Given the description of an element on the screen output the (x, y) to click on. 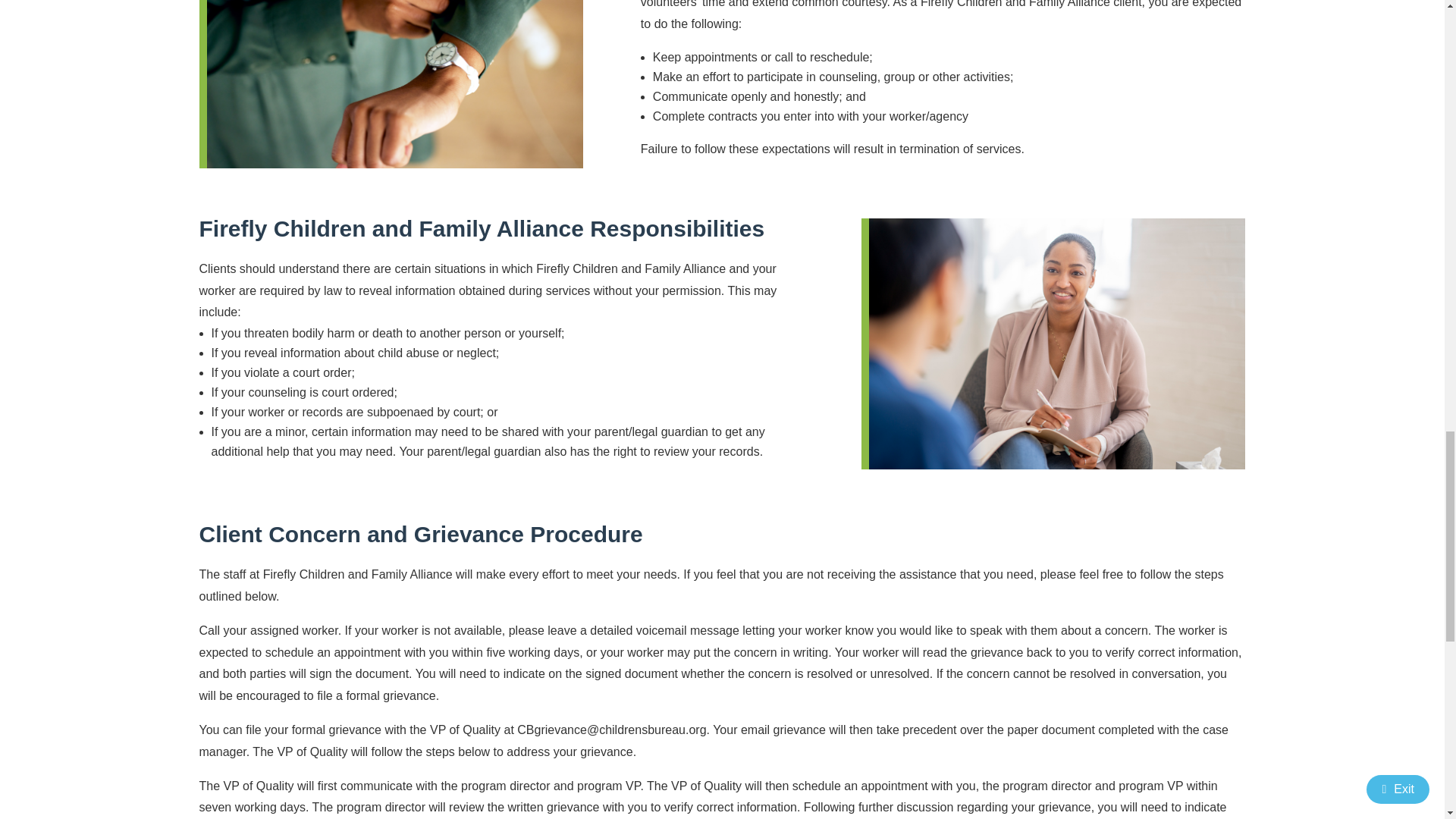
Young Man in a Therapy Session (1056, 343)
